Given the description of an element on the screen output the (x, y) to click on. 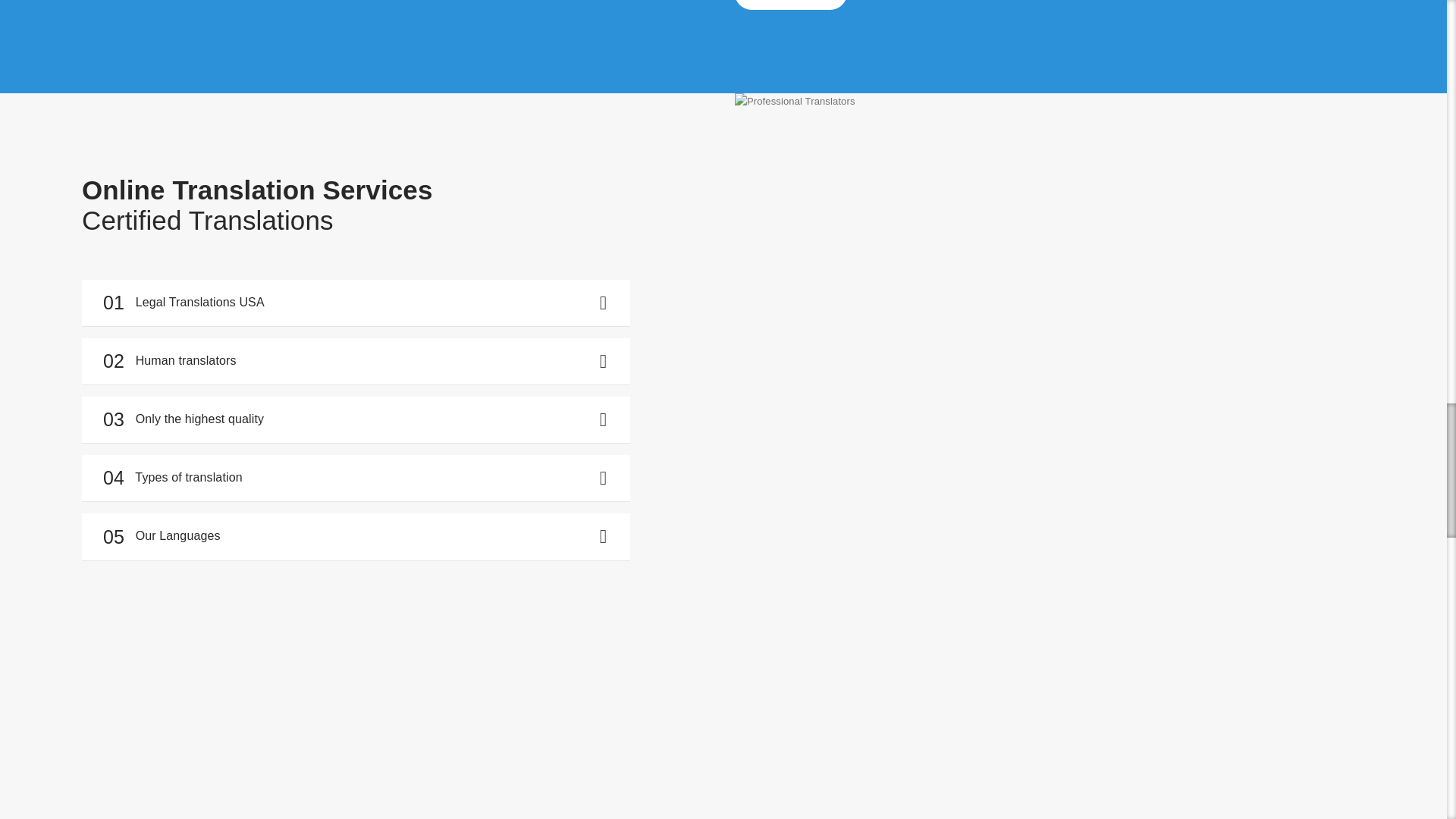
READ MORE (791, 4)
01 Legal Translations USA (355, 302)
03 Only the highest quality (355, 419)
05 Our Languages (355, 536)
04 Types of translation (355, 478)
02 Human translators (355, 360)
